Given the description of an element on the screen output the (x, y) to click on. 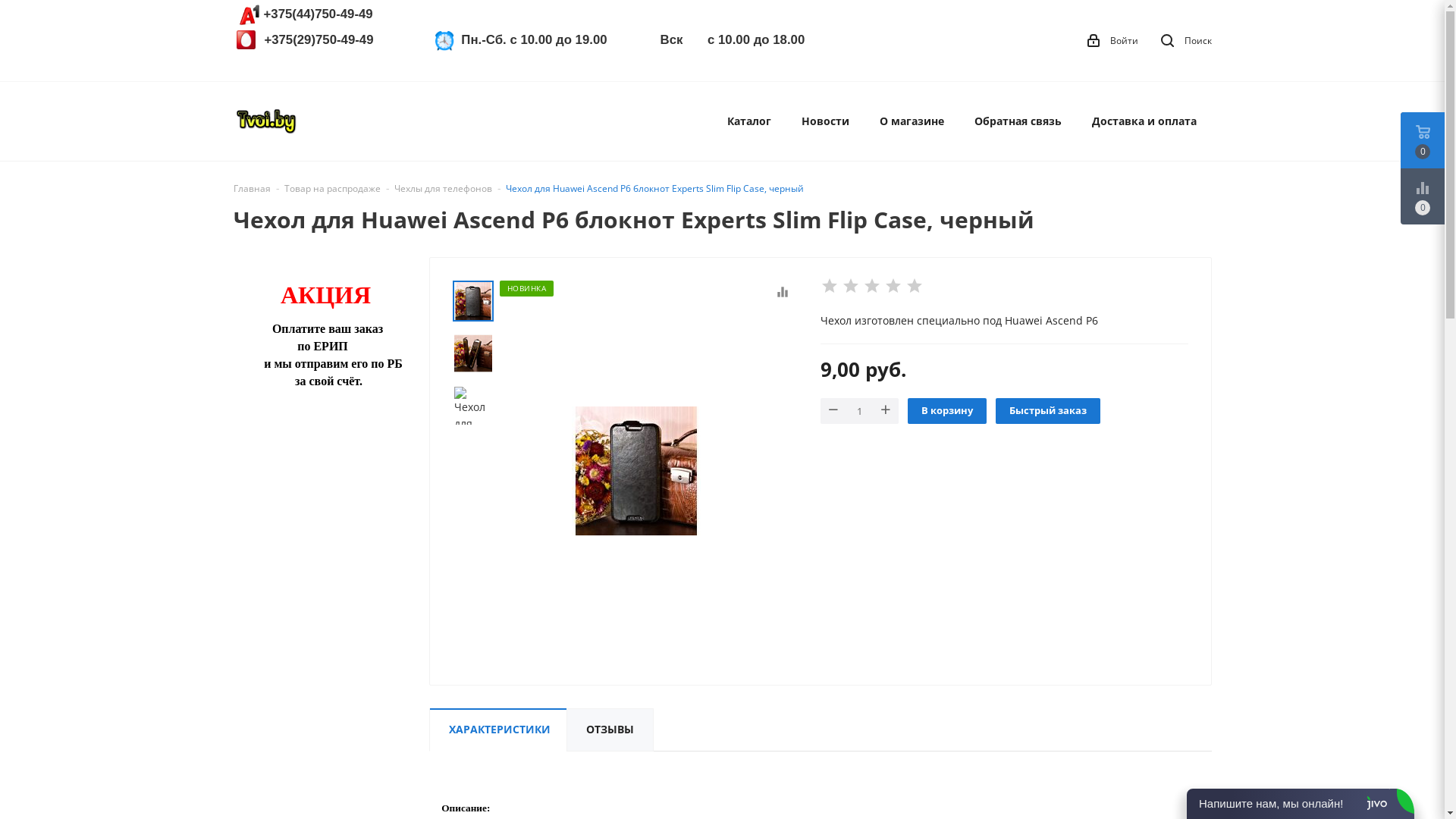
Tvoi.by Element type: hover (266, 121)
